Given the description of an element on the screen output the (x, y) to click on. 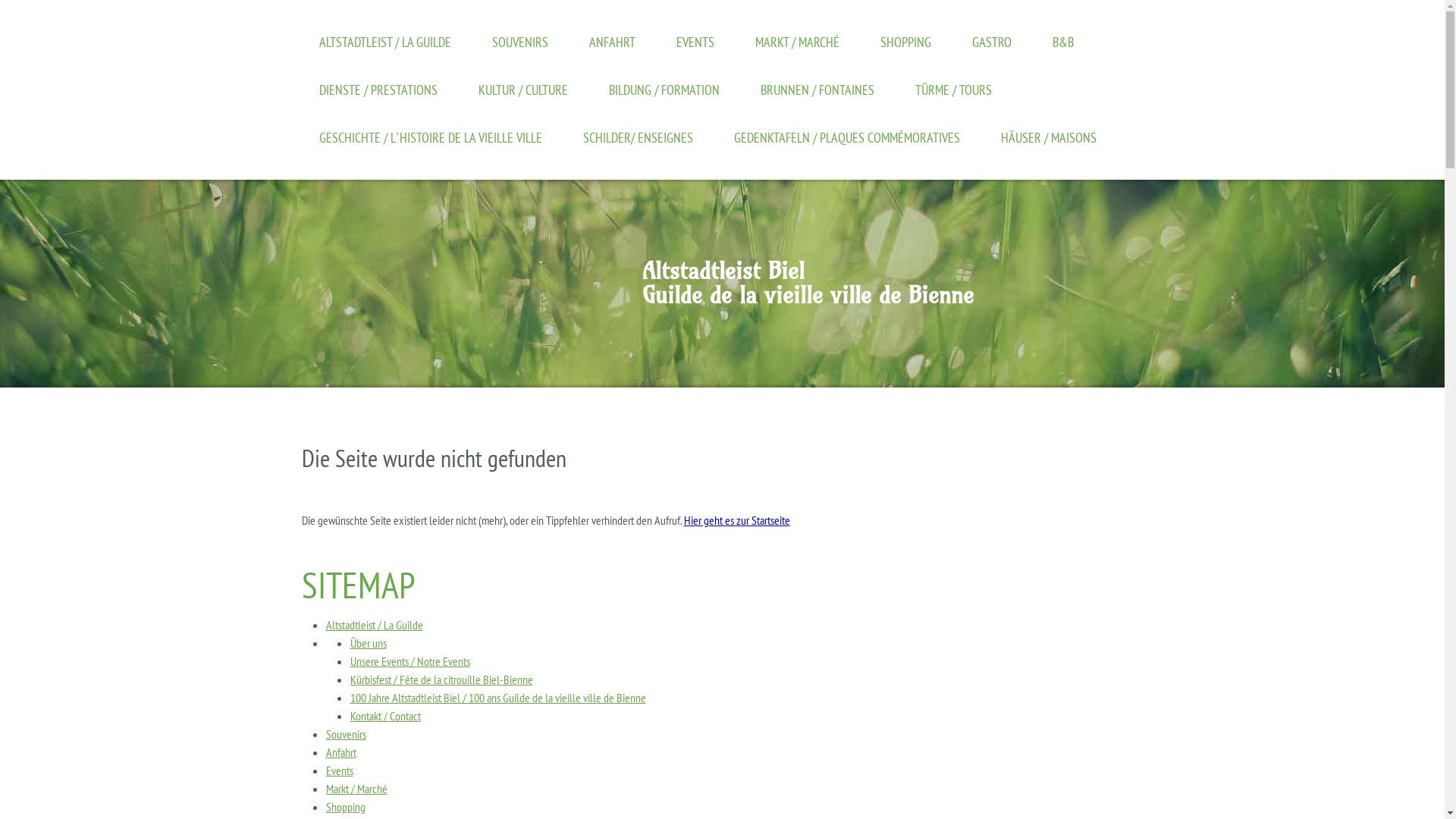
Altstadtleist / La Guilde Element type: text (374, 624)
SHOPPING Element type: text (905, 42)
SOUVENIRS Element type: text (519, 42)
ALTSTADTLEIST / LA GUILDE Element type: text (384, 42)
DIENSTE / PRESTATIONS Element type: text (377, 89)
EVENTS Element type: text (695, 42)
Altstadtleist Biel
Guilde de la vieille ville de Bienne Element type: text (806, 286)
Unsere Events / Notre Events Element type: text (410, 660)
BILDUNG / FORMATION Element type: text (663, 89)
Hier geht es zur Startseite Element type: text (737, 519)
ANFAHRT Element type: text (611, 42)
Anfahrt Element type: text (341, 751)
Kontakt / Contact Element type: text (385, 715)
SCHILDER/ ENSEIGNES Element type: text (637, 137)
Events Element type: text (339, 770)
Shopping Element type: text (345, 806)
Souvenirs Element type: text (346, 733)
GASTRO Element type: text (991, 42)
B&B Element type: text (1062, 42)
GESCHICHTE / L`HISTOIRE DE LA VIEILLE VILLE Element type: text (429, 137)
BRUNNEN / FONTAINES Element type: text (816, 89)
KULTUR / CULTURE Element type: text (522, 89)
